Given the description of an element on the screen output the (x, y) to click on. 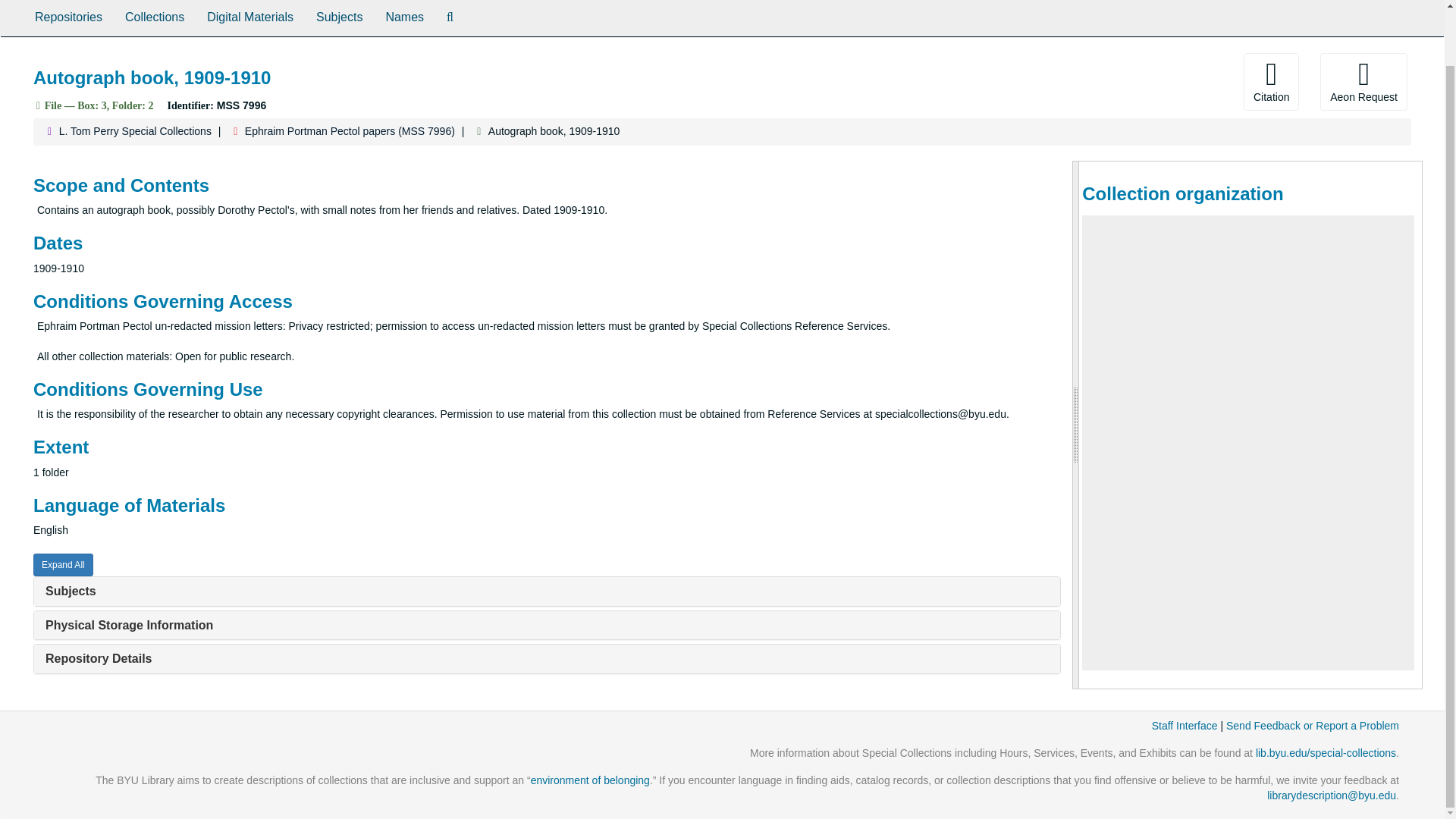
Repository Details (98, 658)
Send Feedback or Report a Problem (1312, 725)
Repositories (68, 18)
Subjects (70, 590)
Names (404, 18)
Aeon Request (1363, 81)
Staff Interface (1184, 725)
Collections (154, 18)
Expand All (63, 564)
Physical Storage Information (128, 625)
